Given the description of an element on the screen output the (x, y) to click on. 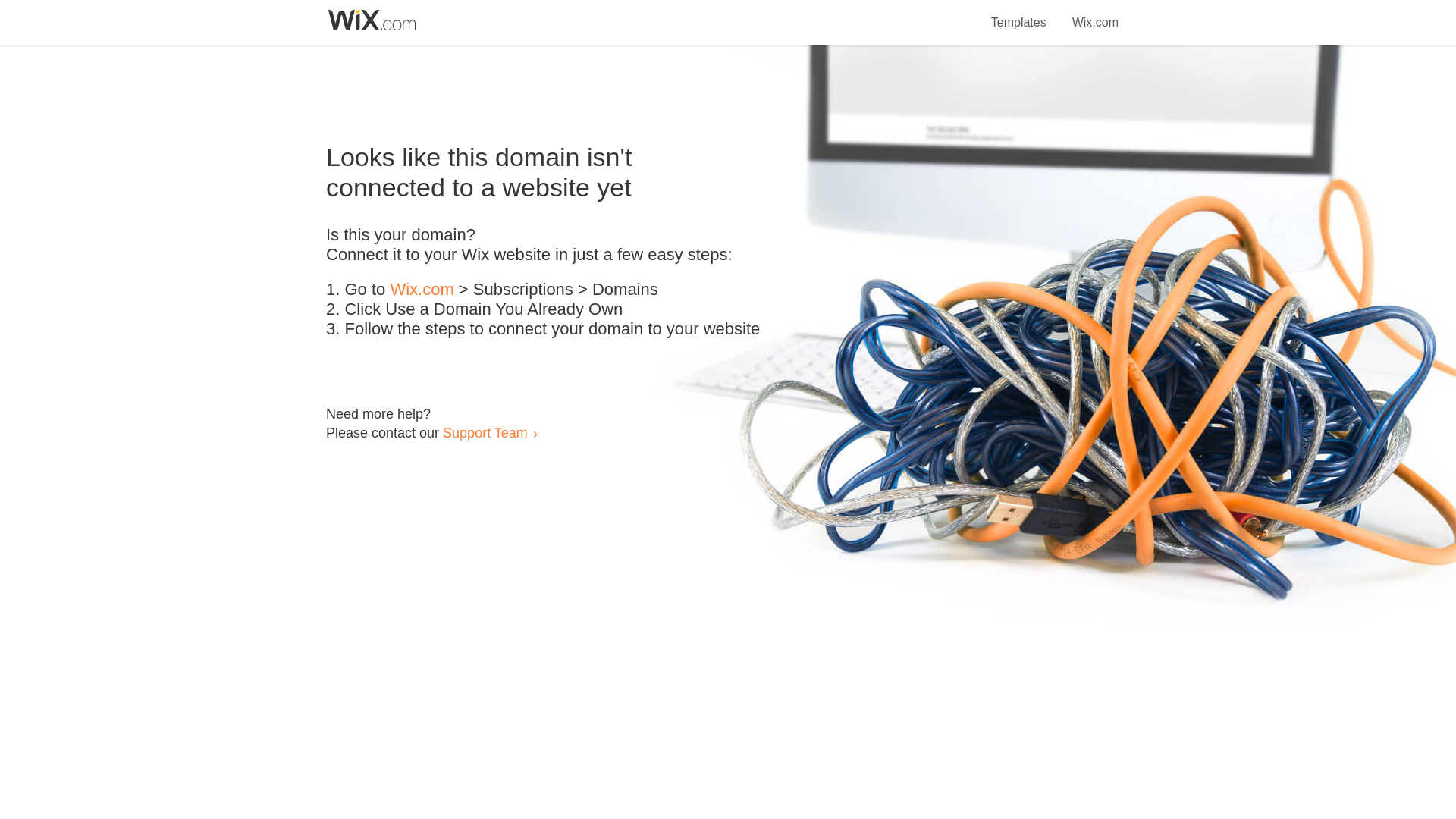
Templates (1018, 14)
Wix.com (1095, 14)
Wix.com (421, 289)
Support Team (484, 432)
